Given the description of an element on the screen output the (x, y) to click on. 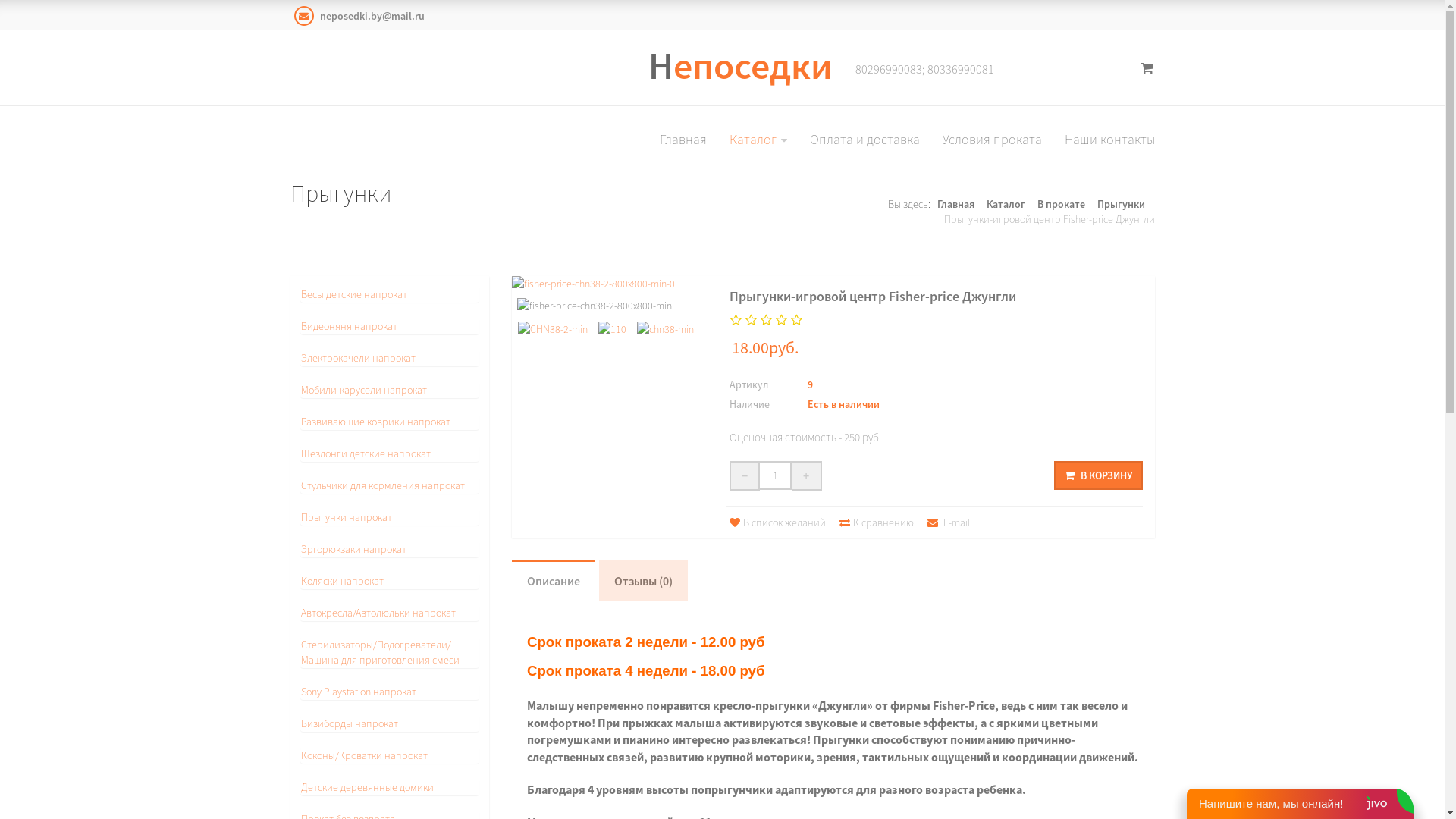
+ Element type: text (806, 475)
E-mail Element type: text (948, 522)
